Given the description of an element on the screen output the (x, y) to click on. 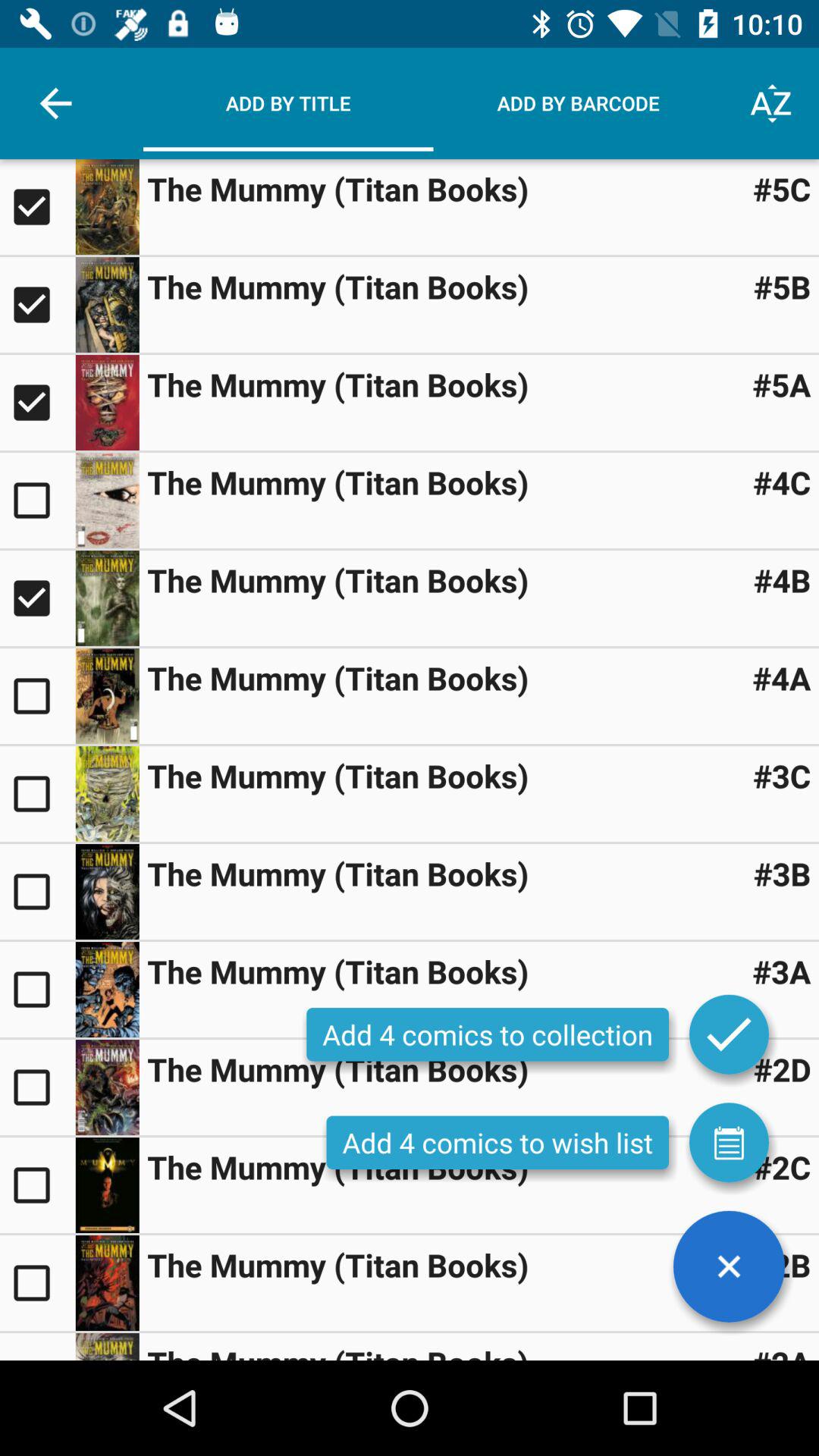
jump until the #4c icon (782, 481)
